Given the description of an element on the screen output the (x, y) to click on. 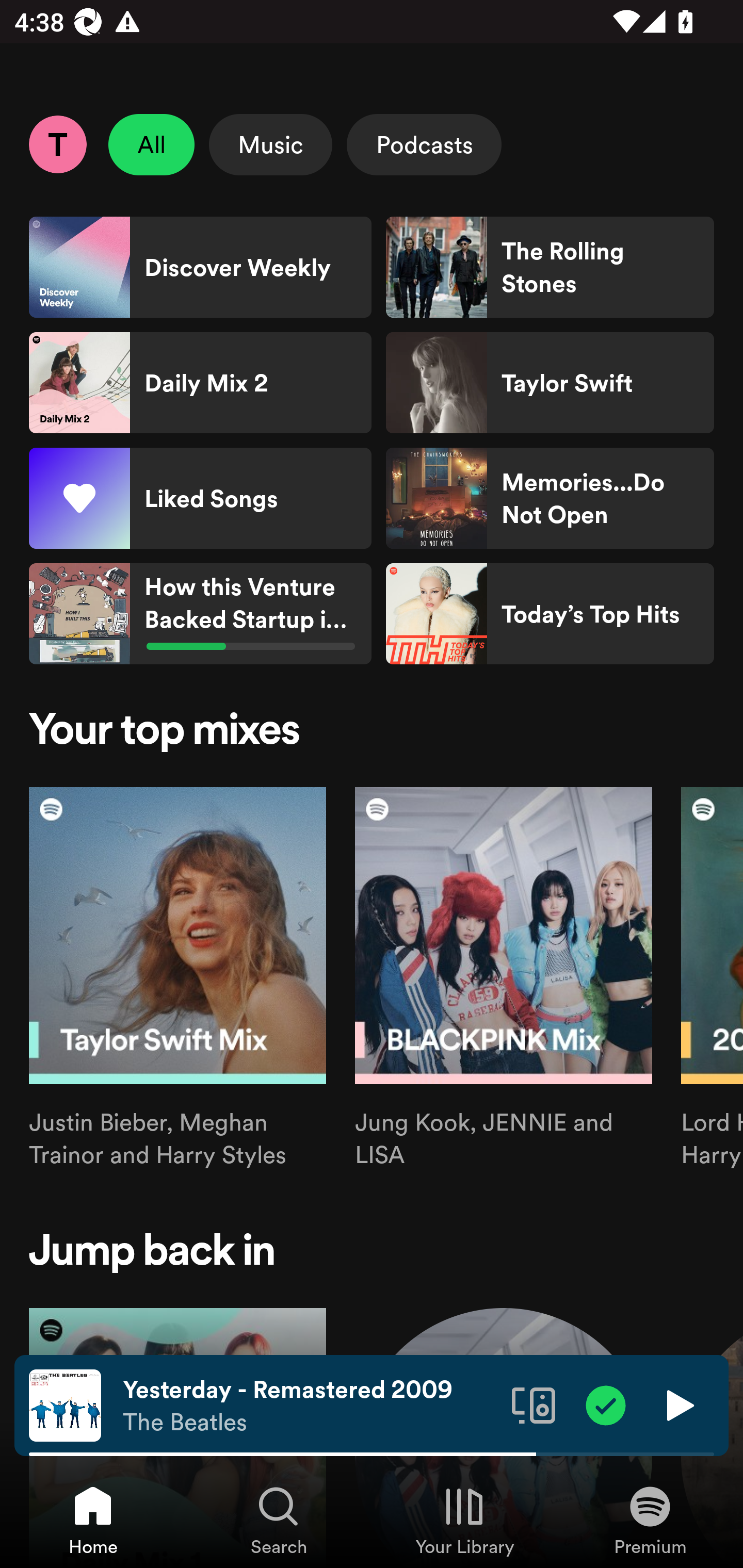
Profile (57, 144)
All Unselect All (151, 144)
Music Select Music (270, 144)
Podcasts Select Podcasts (423, 144)
Discover Weekly Shortcut Discover Weekly (199, 267)
The Rolling Stones Shortcut The Rolling Stones (549, 267)
Daily Mix 2 Shortcut Daily Mix 2 (199, 382)
Taylor Swift Shortcut Taylor Swift (549, 382)
Liked Songs Shortcut Liked Songs (199, 498)
Today’s Top Hits Shortcut Today’s Top Hits (549, 613)
Yesterday - Remastered 2009 The Beatles (309, 1405)
The cover art of the currently playing track (64, 1404)
Connect to a device. Opens the devices menu (533, 1404)
Item added (605, 1404)
Play (677, 1404)
Home, Tab 1 of 4 Home Home (92, 1519)
Search, Tab 2 of 4 Search Search (278, 1519)
Your Library, Tab 3 of 4 Your Library Your Library (464, 1519)
Premium, Tab 4 of 4 Premium Premium (650, 1519)
